Given the description of an element on the screen output the (x, y) to click on. 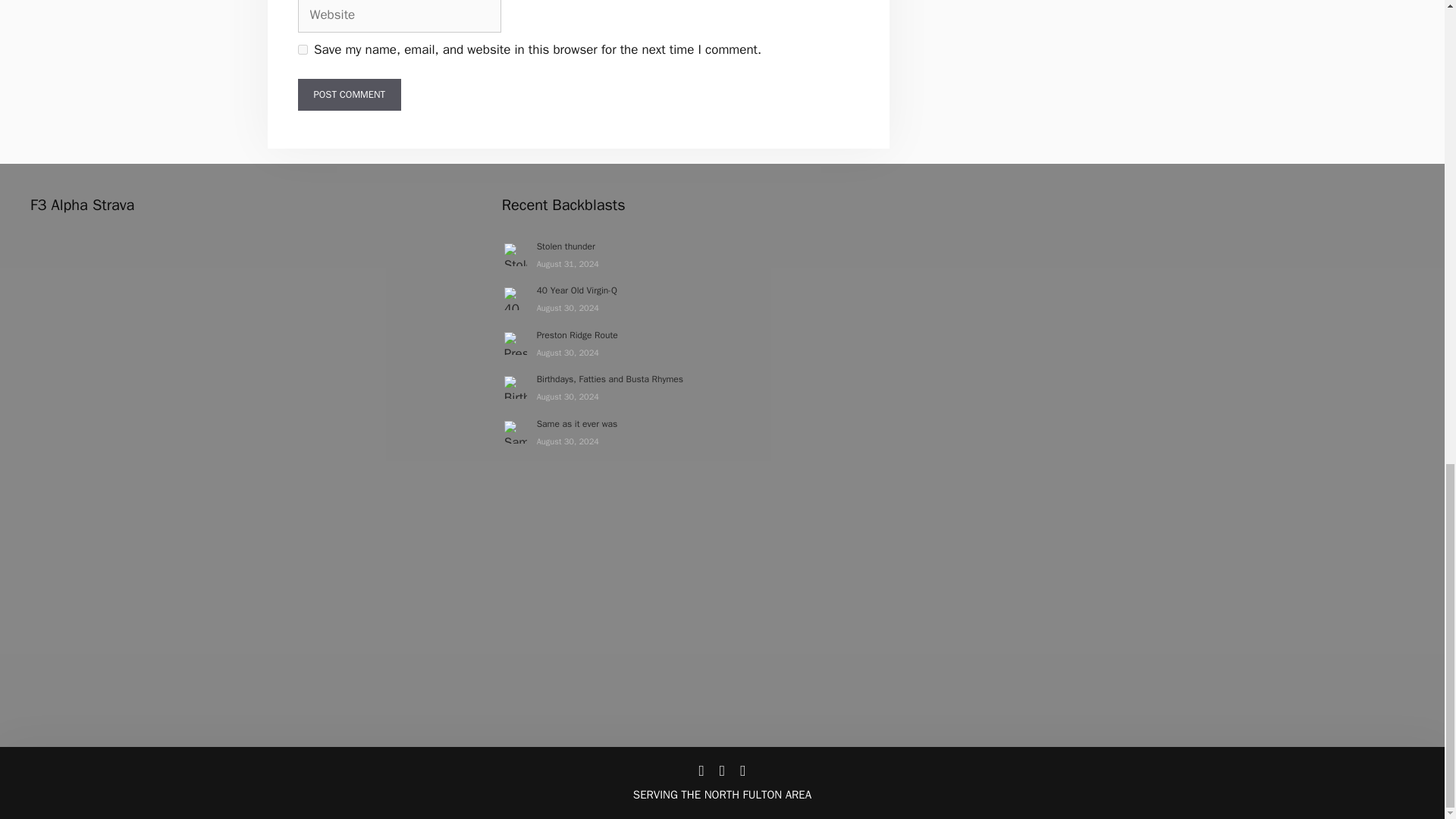
yes (302, 49)
Post Comment (349, 94)
Post Comment (349, 94)
